Given the description of an element on the screen output the (x, y) to click on. 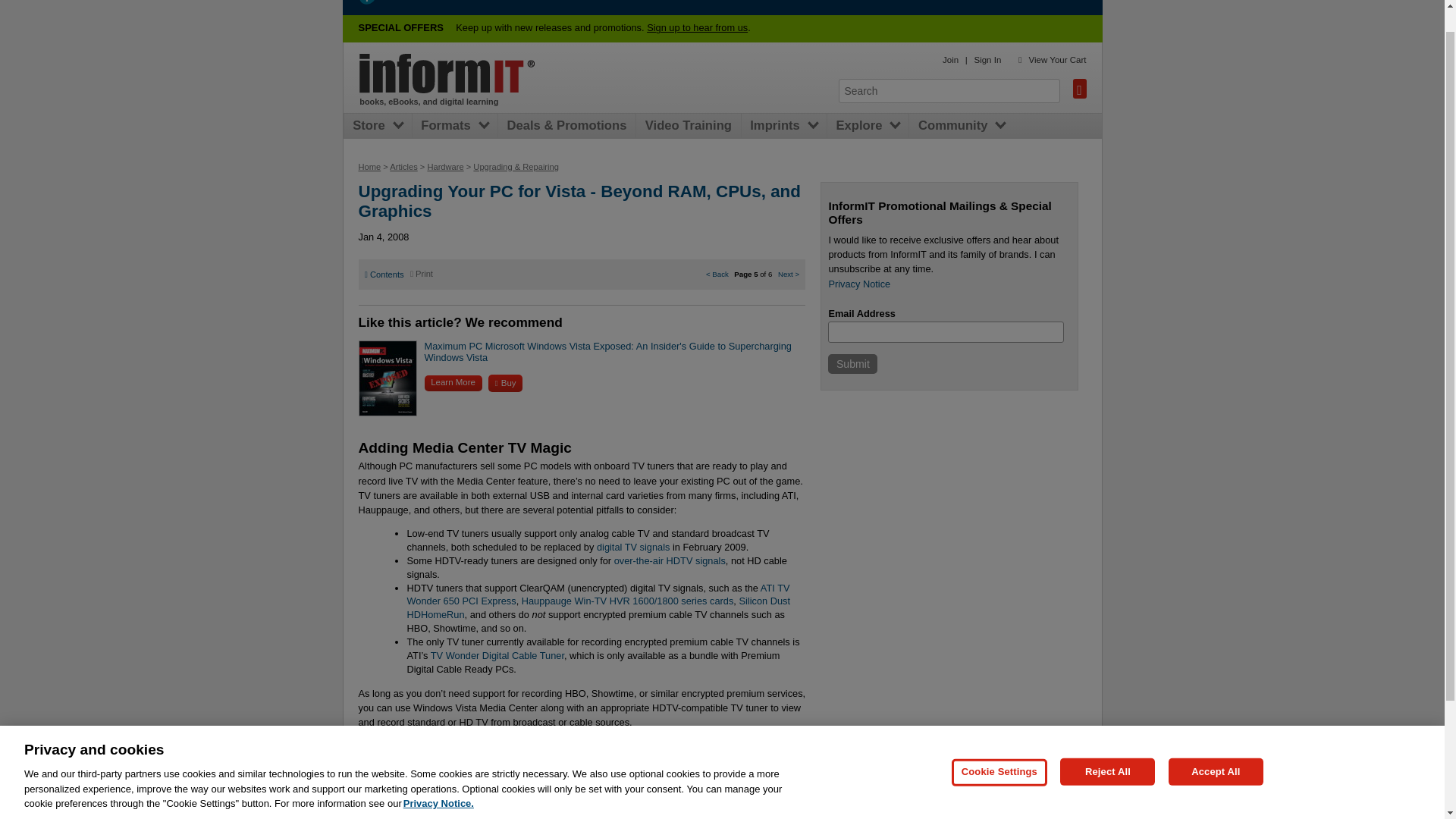
digital TV signals (632, 546)
Articles (403, 166)
Home (446, 73)
View Your Cart (1057, 59)
Silicon Dust HDHomeRun (599, 607)
Hardware (444, 166)
Submit (852, 363)
Sign up to hear from us (697, 27)
Privacy Notice (858, 283)
over-the-air HDTV signals (669, 560)
